Given the description of an element on the screen output the (x, y) to click on. 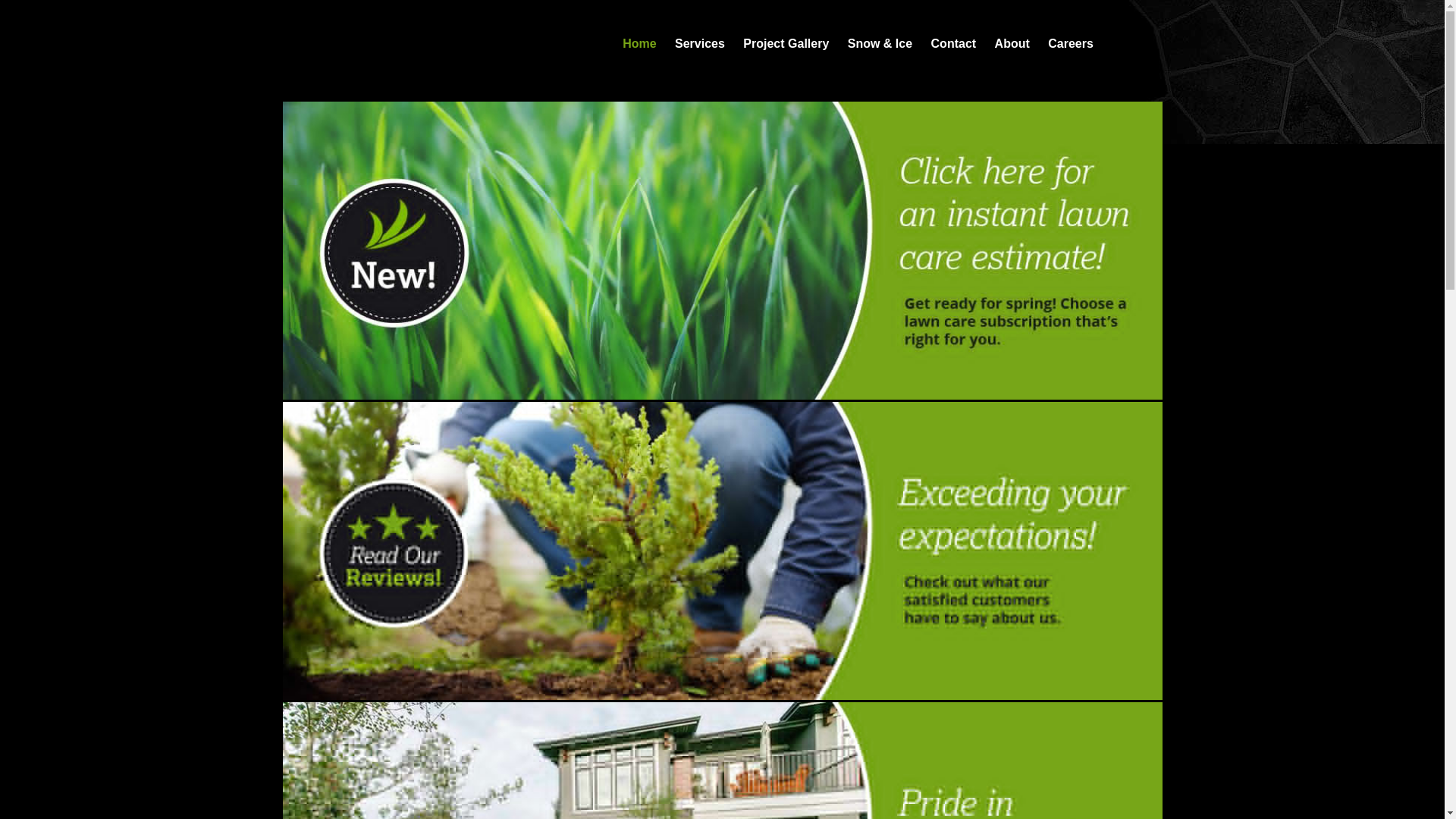
Project Gallery (785, 43)
